Given the description of an element on the screen output the (x, y) to click on. 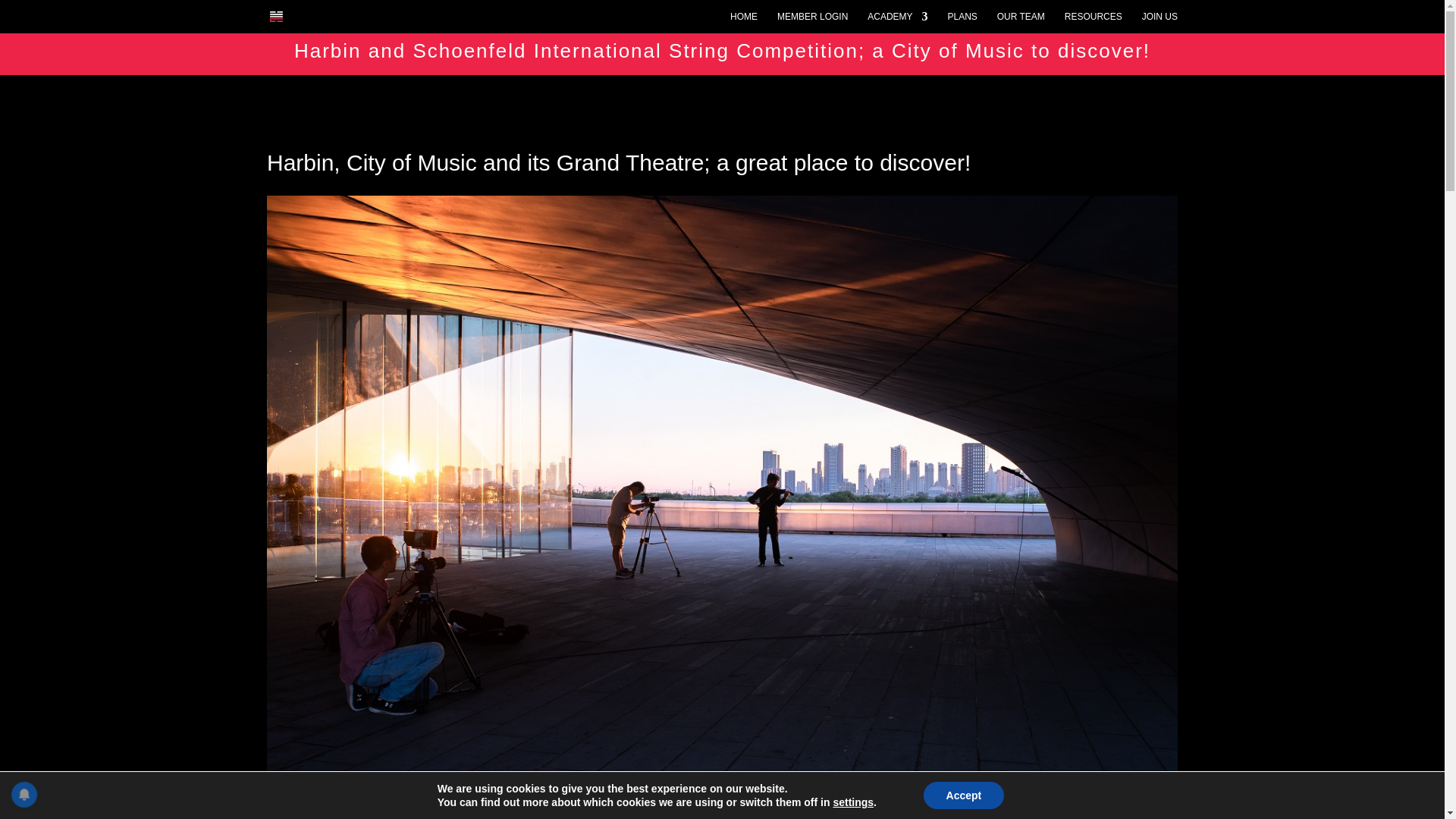
RESOURCES (1093, 22)
OUR TEAM (1021, 22)
JOIN US (1159, 22)
MEMBER LOGIN (812, 22)
ACADEMY (897, 22)
HOME (743, 22)
PLANS (961, 22)
